Given the description of an element on the screen output the (x, y) to click on. 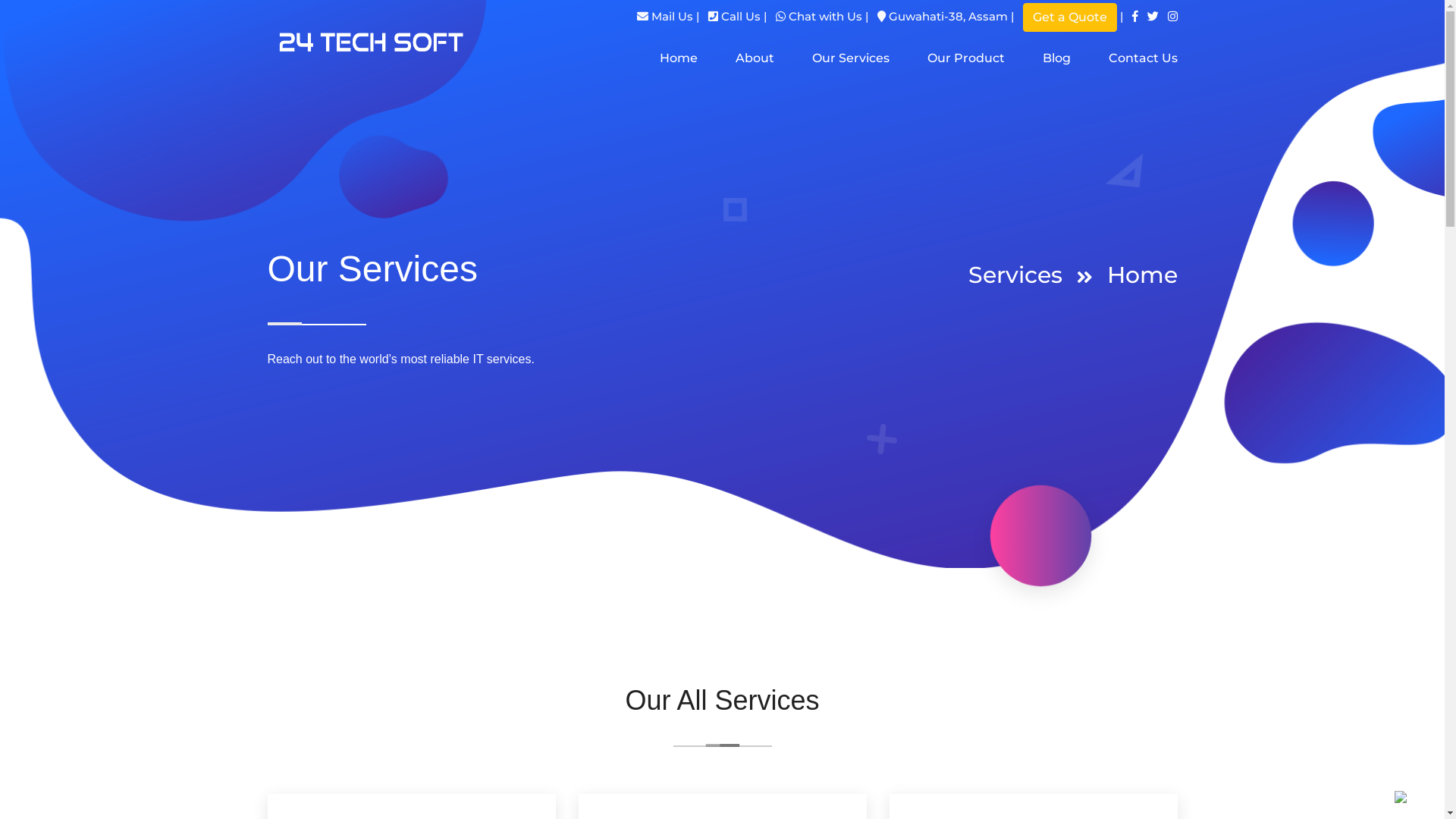
Get a Quote Element type: text (1069, 17)
Home Element type: text (678, 58)
Our Services Element type: text (849, 58)
About Element type: text (754, 58)
Chat with Us | Element type: text (826, 16)
Home Element type: text (1142, 274)
Mail Us | Element type: text (672, 16)
Contact Us Element type: text (1142, 58)
Call Us | Element type: text (741, 16)
Our Product Element type: text (965, 58)
Blog Element type: text (1055, 58)
